Given the description of an element on the screen output the (x, y) to click on. 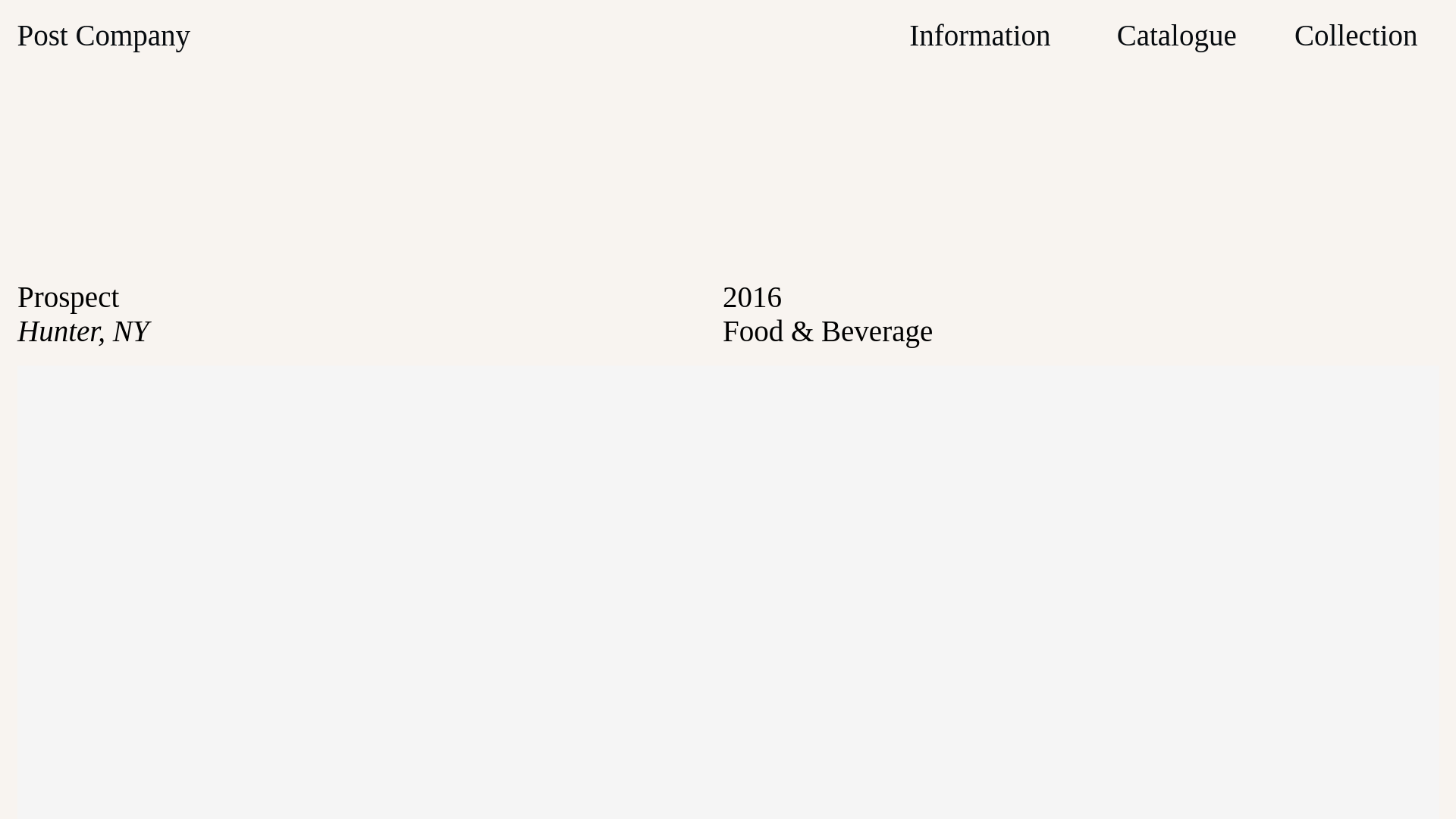
Catalogue (1176, 34)
Collection (1355, 34)
Information (978, 34)
Post Company (103, 35)
